Given the description of an element on the screen output the (x, y) to click on. 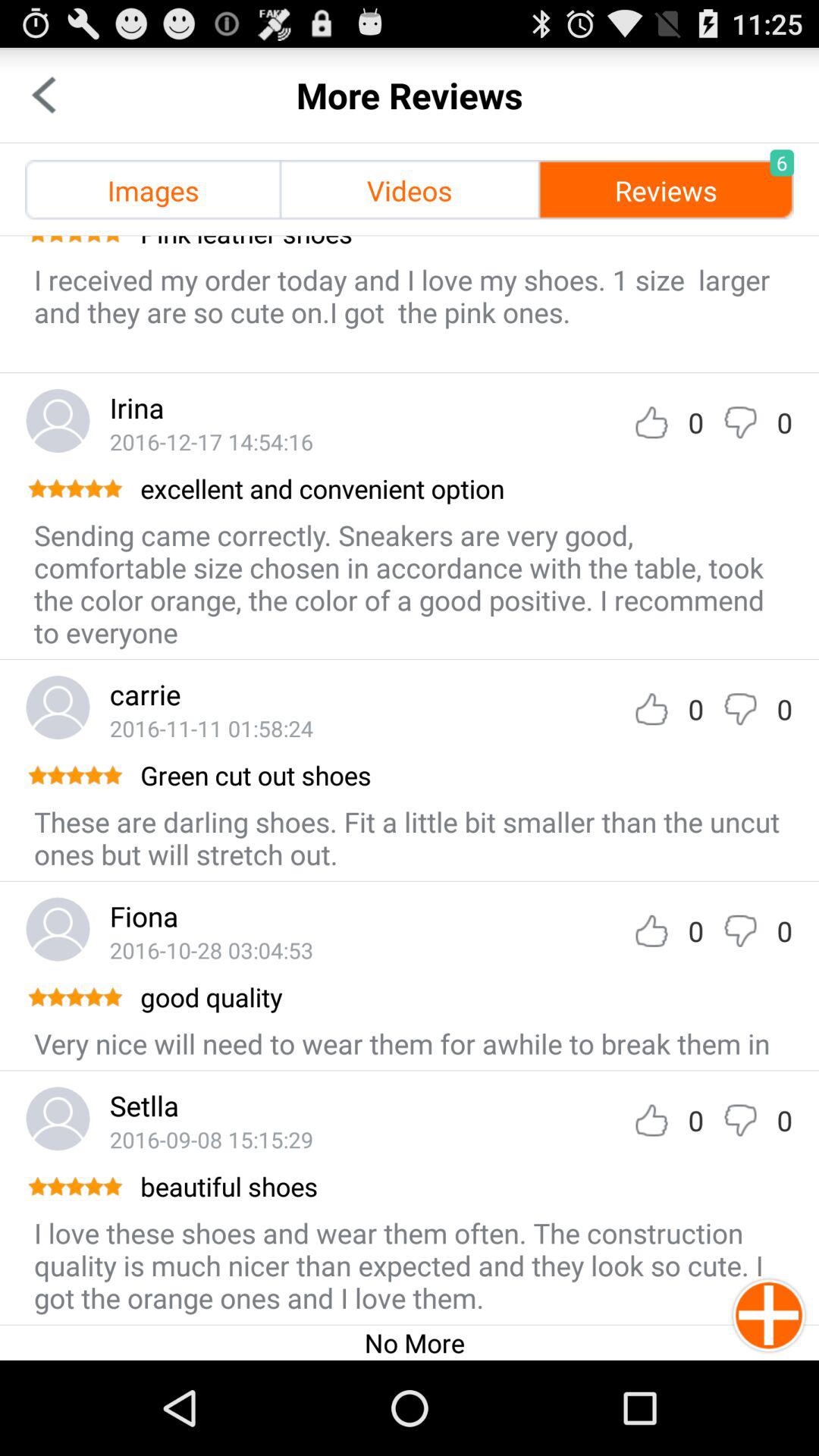
dislikes the review (740, 930)
